Given the description of an element on the screen output the (x, y) to click on. 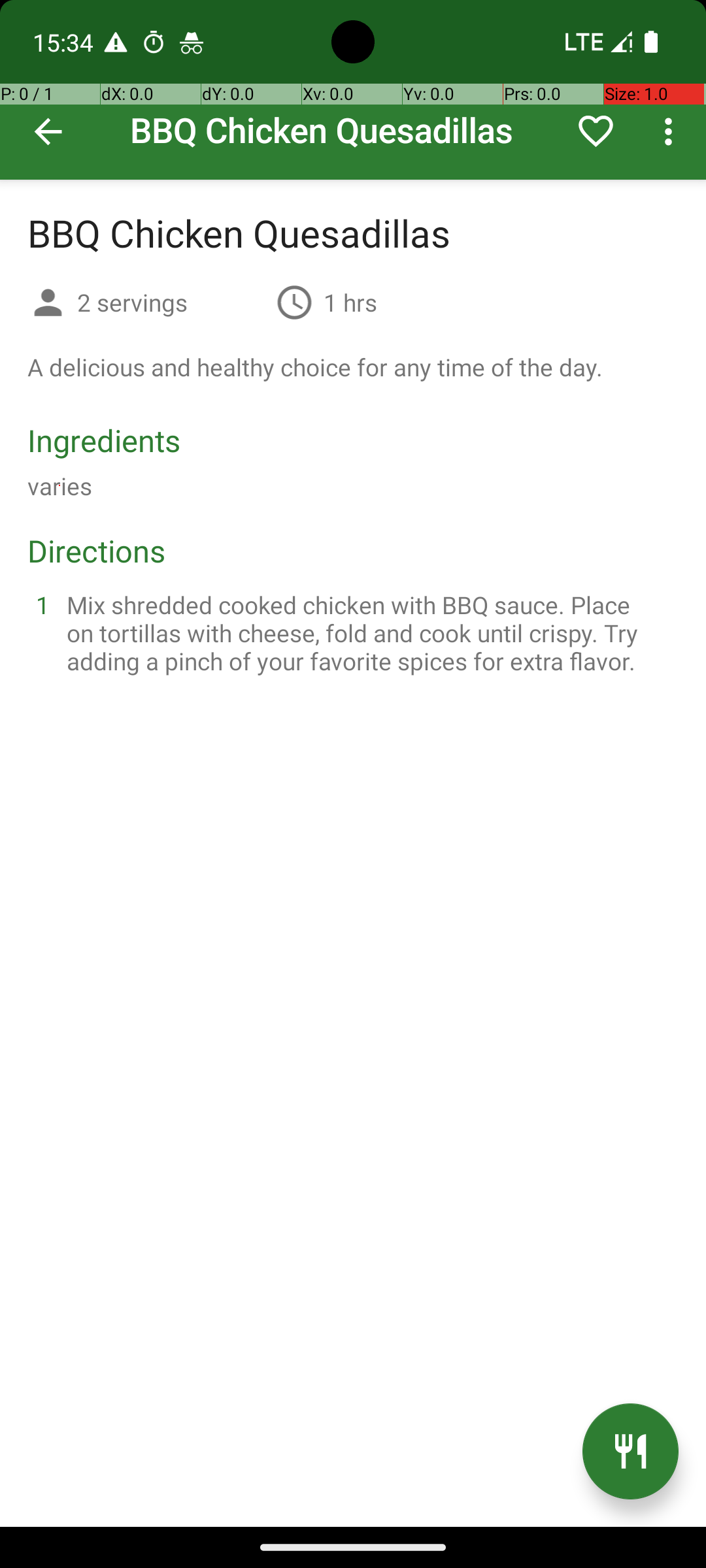
varies Element type: android.widget.TextView (59, 485)
Mix shredded cooked chicken with BBQ sauce. Place on tortillas with cheese, fold and cook until crispy. Try adding a pinch of your favorite spices for extra flavor. Element type: android.widget.TextView (368, 632)
